Given the description of an element on the screen output the (x, y) to click on. 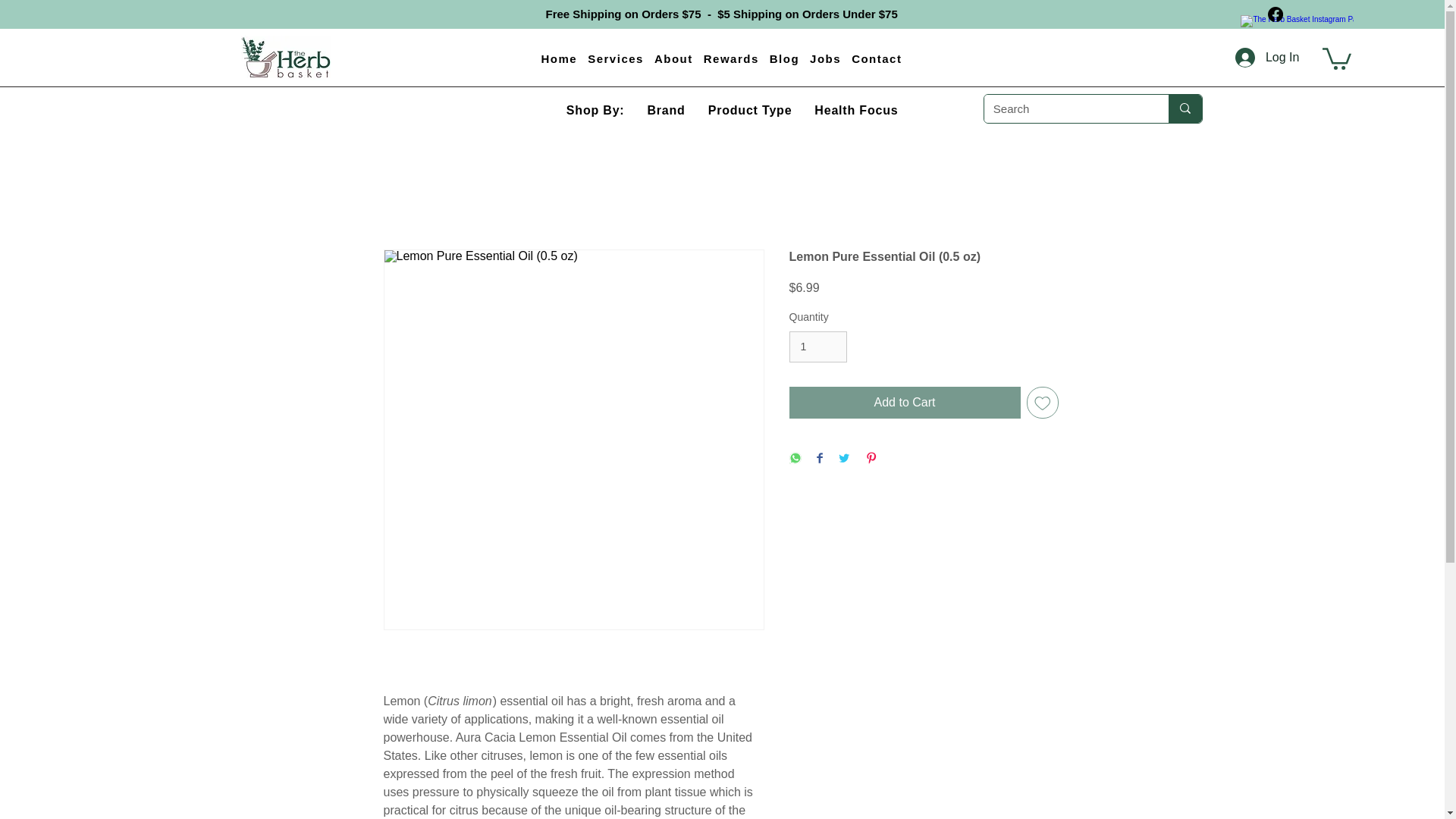
1 (817, 346)
About (673, 59)
Rewards (730, 59)
Jobs (825, 59)
Home (559, 59)
Log In (1266, 56)
Blog (784, 59)
Contact (876, 59)
Services (615, 59)
